Given the description of an element on the screen output the (x, y) to click on. 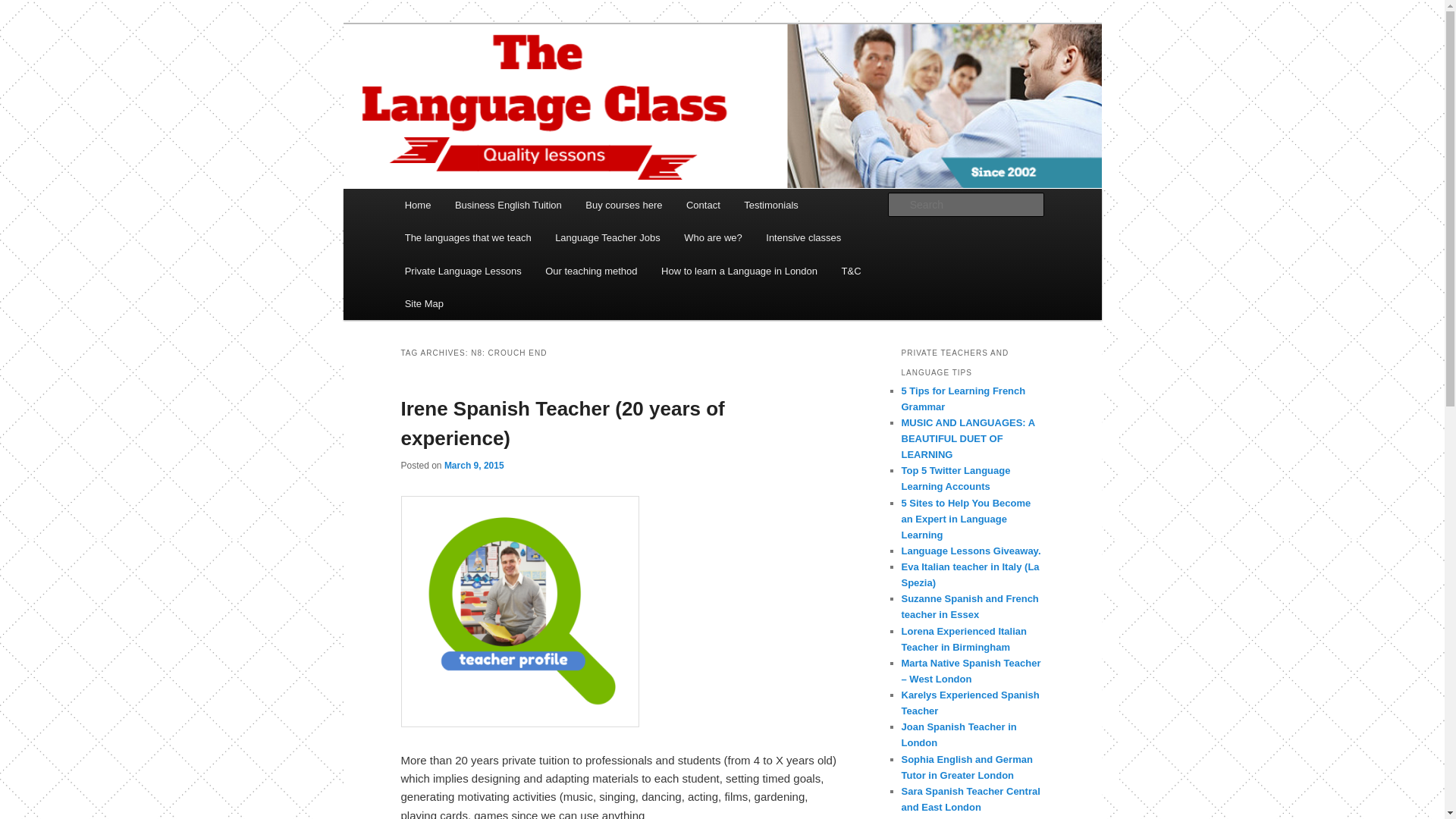
Contact (703, 205)
Private Language Lessons (462, 270)
Search (24, 8)
Home (417, 205)
How to learn a Language in London (739, 270)
Who are we? (712, 237)
Buy courses here (624, 205)
3:10 pm (473, 465)
Language Teacher Jobs (607, 237)
